Given the description of an element on the screen output the (x, y) to click on. 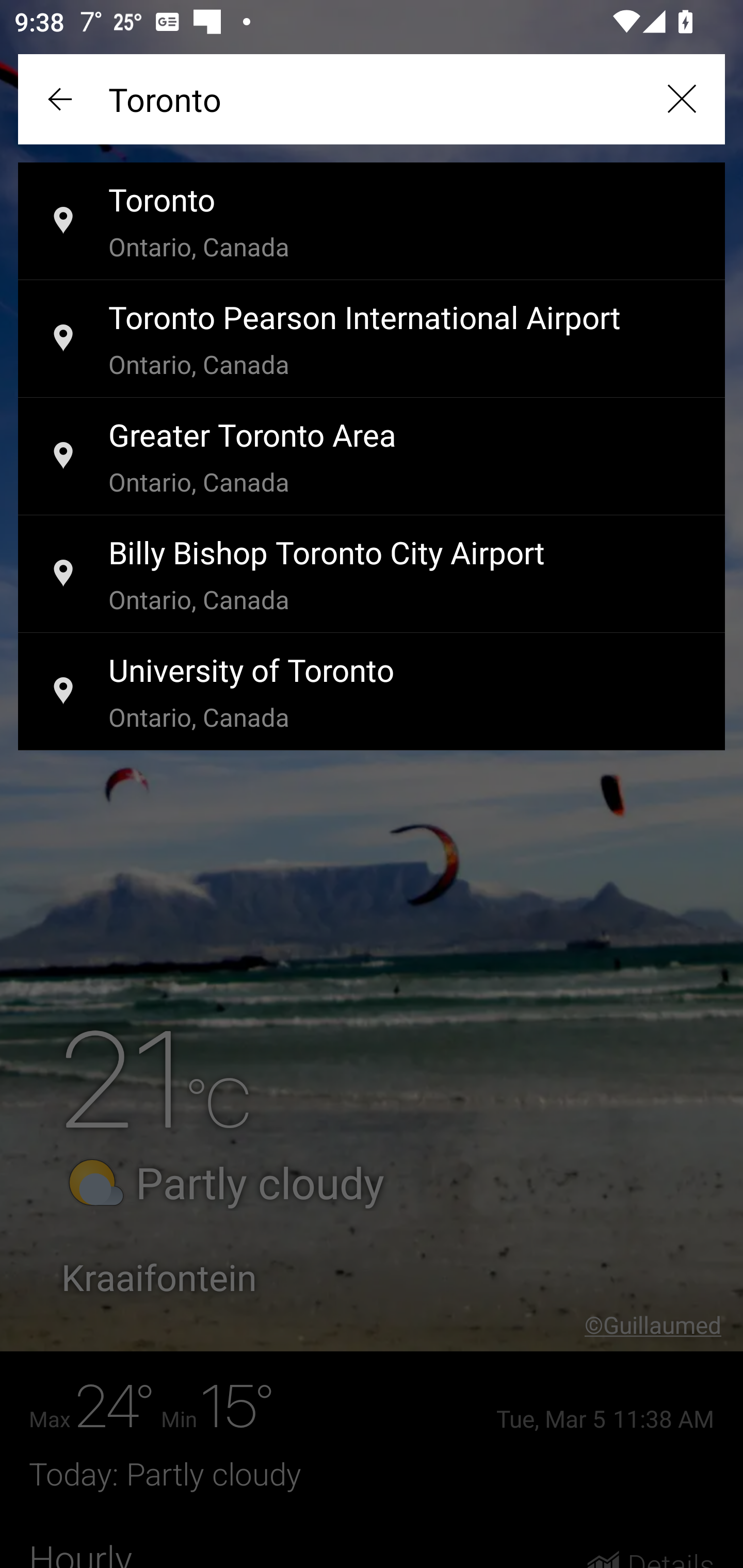
Toronto (371, 99)
 (681, 99)
 (61, 99)
 Toronto Ontario, Canada (371, 221)
 Greater Toronto Area Ontario, Canada (371, 456)
 University of Toronto Ontario, Canada (371, 692)
